Given the description of an element on the screen output the (x, y) to click on. 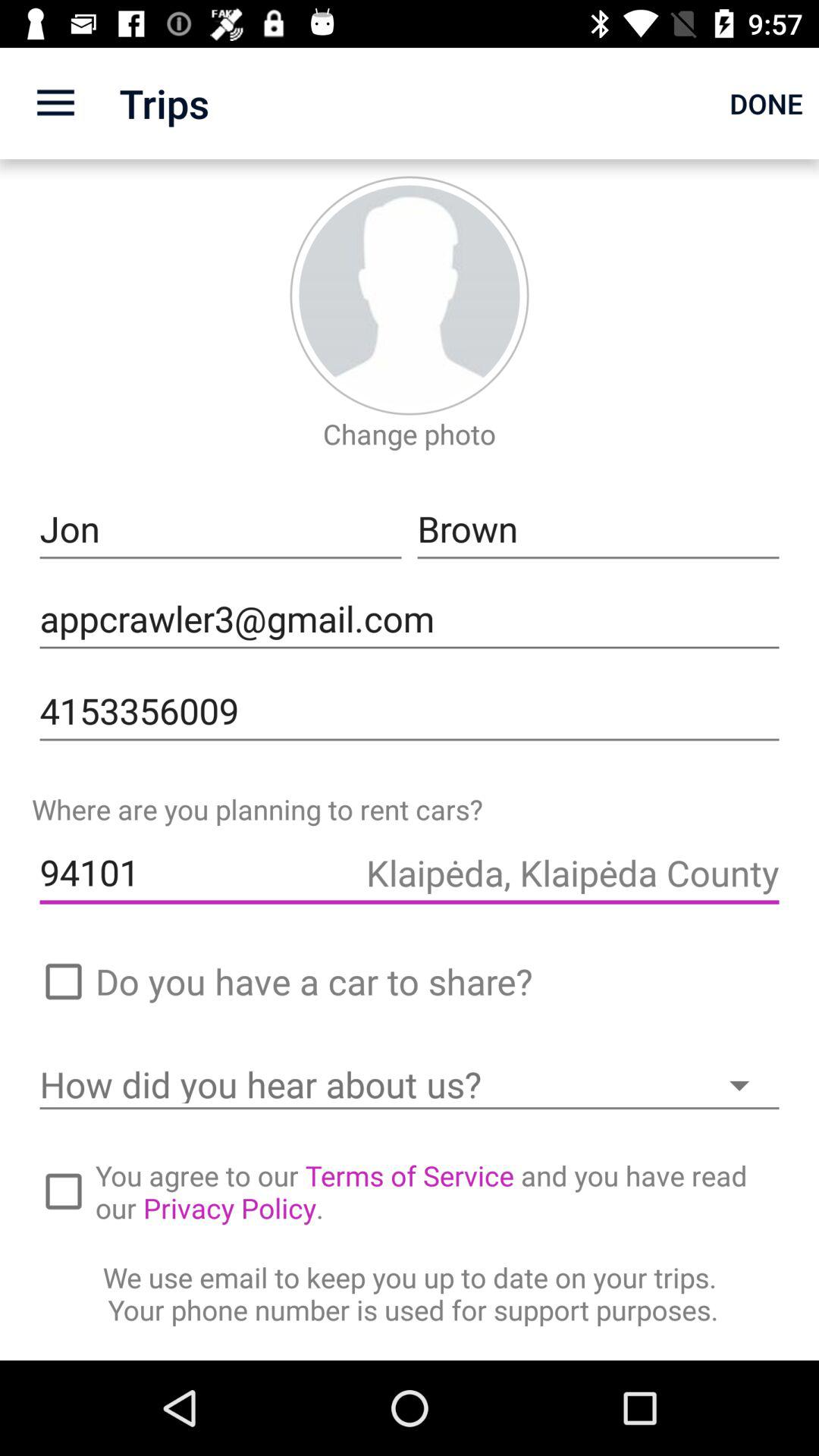
select item above appcrawler3@gmail.com item (598, 529)
